Given the description of an element on the screen output the (x, y) to click on. 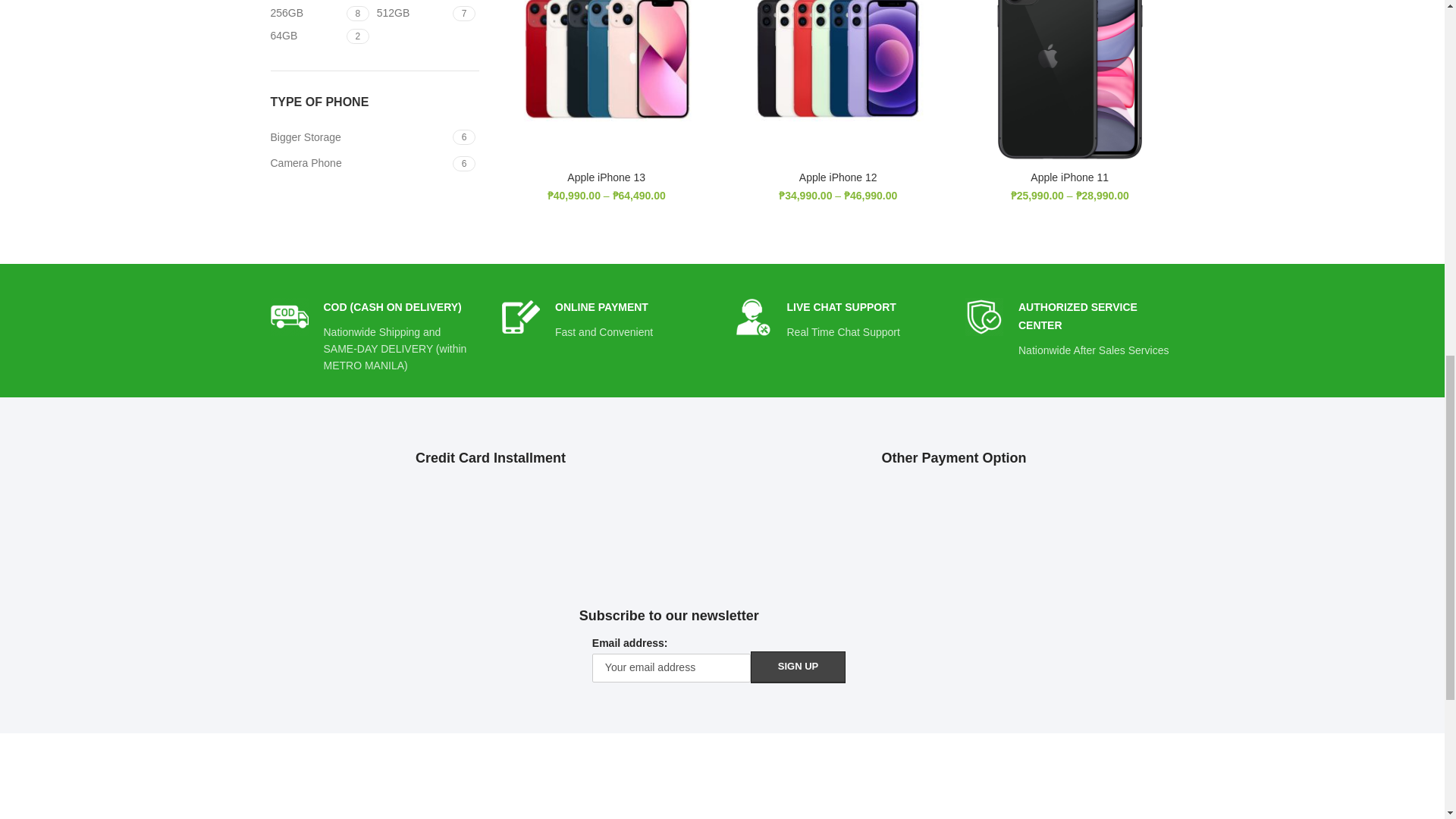
cod-icon (288, 316)
77 (374, 23)
76 (984, 316)
Sign up (374, 152)
75 (752, 316)
